Given the description of an element on the screen output the (x, y) to click on. 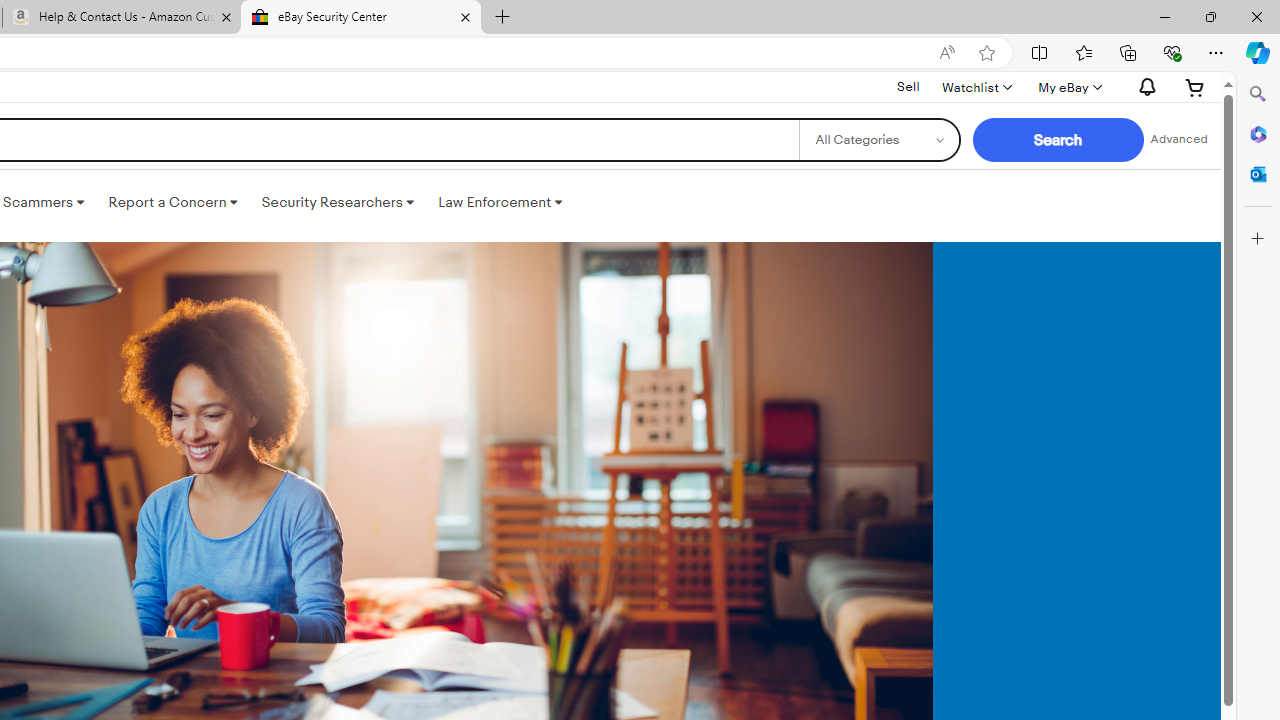
Sell (908, 87)
Your shopping cart (1195, 87)
Watchlist (975, 87)
AutomationID: gh-eb-Alerts (1144, 87)
Report a Concern  (173, 202)
Law Enforcement  (500, 202)
Law Enforcement  (500, 202)
Close Outlook pane (1258, 174)
